Given the description of an element on the screen output the (x, y) to click on. 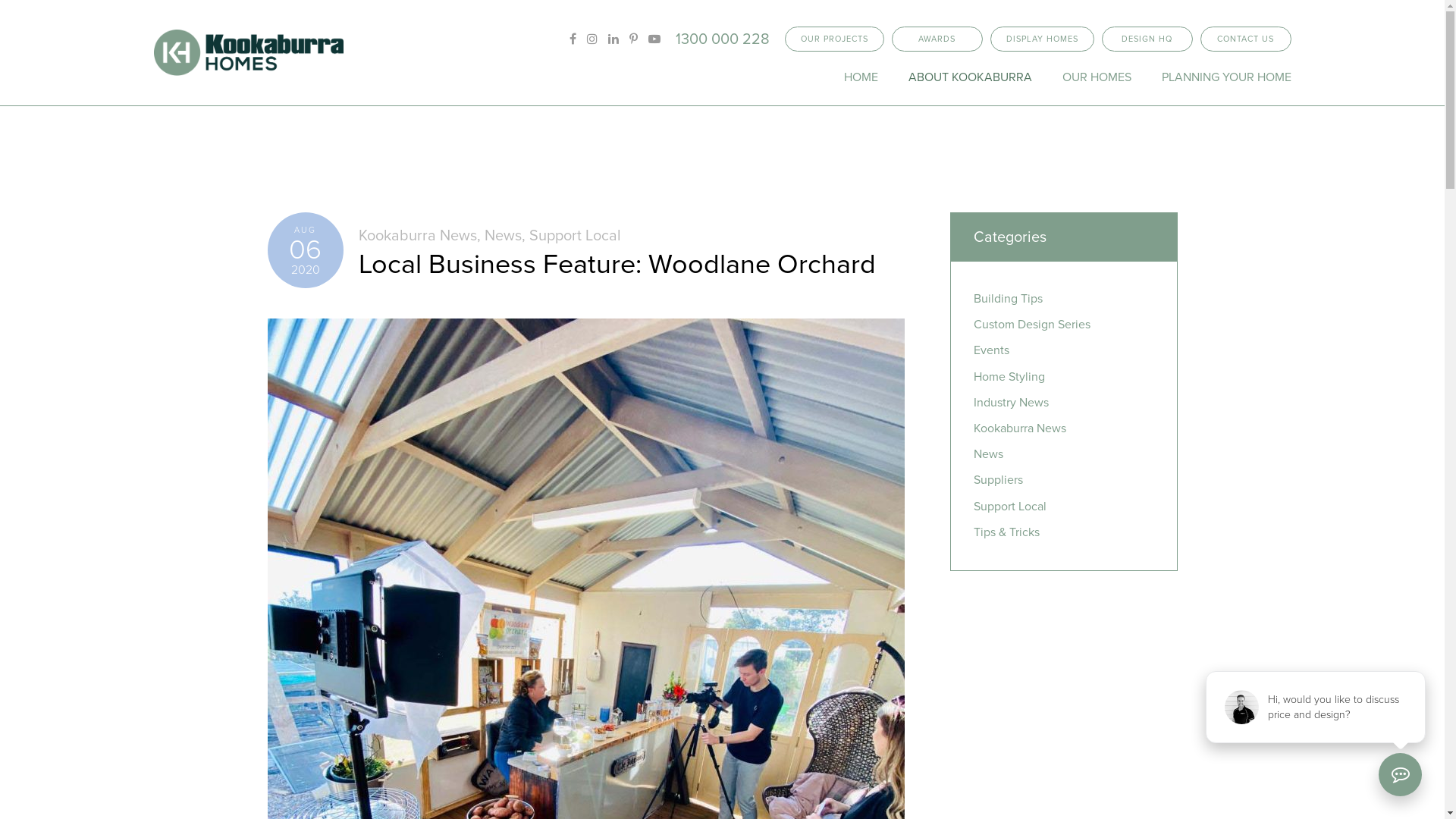
Custom Design Series Element type: text (1031, 324)
Suppliers Element type: text (997, 479)
OUR HOMES Element type: text (1095, 77)
Support Local Element type: text (1009, 506)
OUR PROJECTS Element type: text (833, 38)
Tips & Tricks Element type: text (1006, 531)
DISPLAY HOMES Element type: text (1042, 38)
Building Tips Element type: text (1007, 298)
Home Styling Element type: text (1008, 376)
AWARDS Element type: text (936, 38)
ABOUT KOOKABURRA Element type: text (970, 77)
News Element type: text (501, 235)
Industry News Element type: text (1010, 402)
PLANNING YOUR HOME Element type: text (1226, 77)
Events Element type: text (991, 349)
Kookaburra News Element type: text (416, 235)
CONTACT US Element type: text (1244, 38)
HOME Element type: text (860, 77)
1300 000 228 Element type: text (721, 39)
DESIGN HQ Element type: text (1146, 38)
Support Local Element type: text (575, 235)
Kookaburra News Element type: text (1019, 428)
News Element type: text (988, 453)
